Given the description of an element on the screen output the (x, y) to click on. 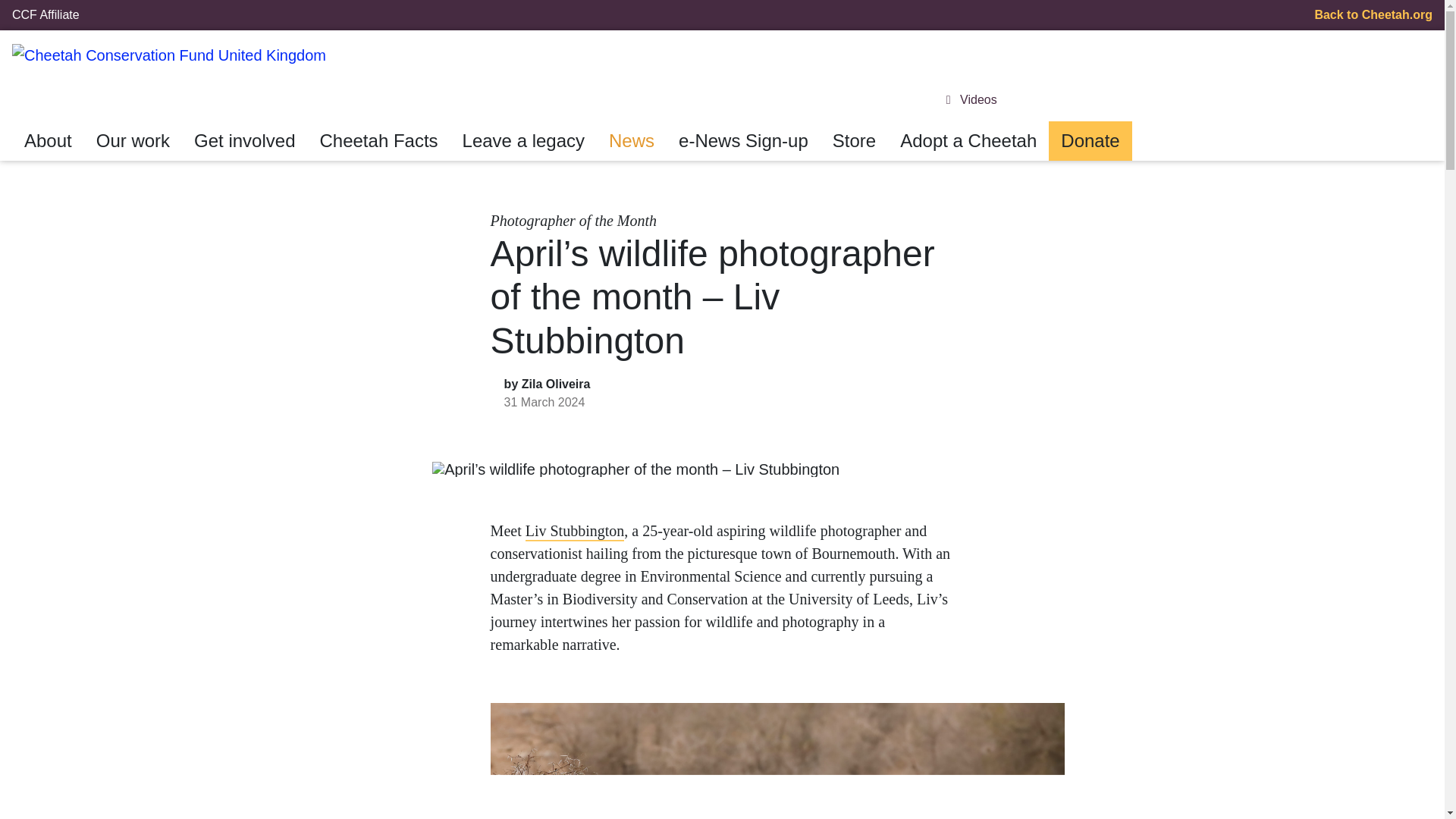
Liv Stubbington (574, 530)
Cheetah Facts (378, 140)
Leave a legacy (522, 140)
Store (854, 140)
Adopt a Cheetah (968, 140)
e-News Sign-up (743, 140)
Get involved (244, 140)
News (631, 140)
Our work (133, 140)
Photographer of the Month (573, 220)
